Given the description of an element on the screen output the (x, y) to click on. 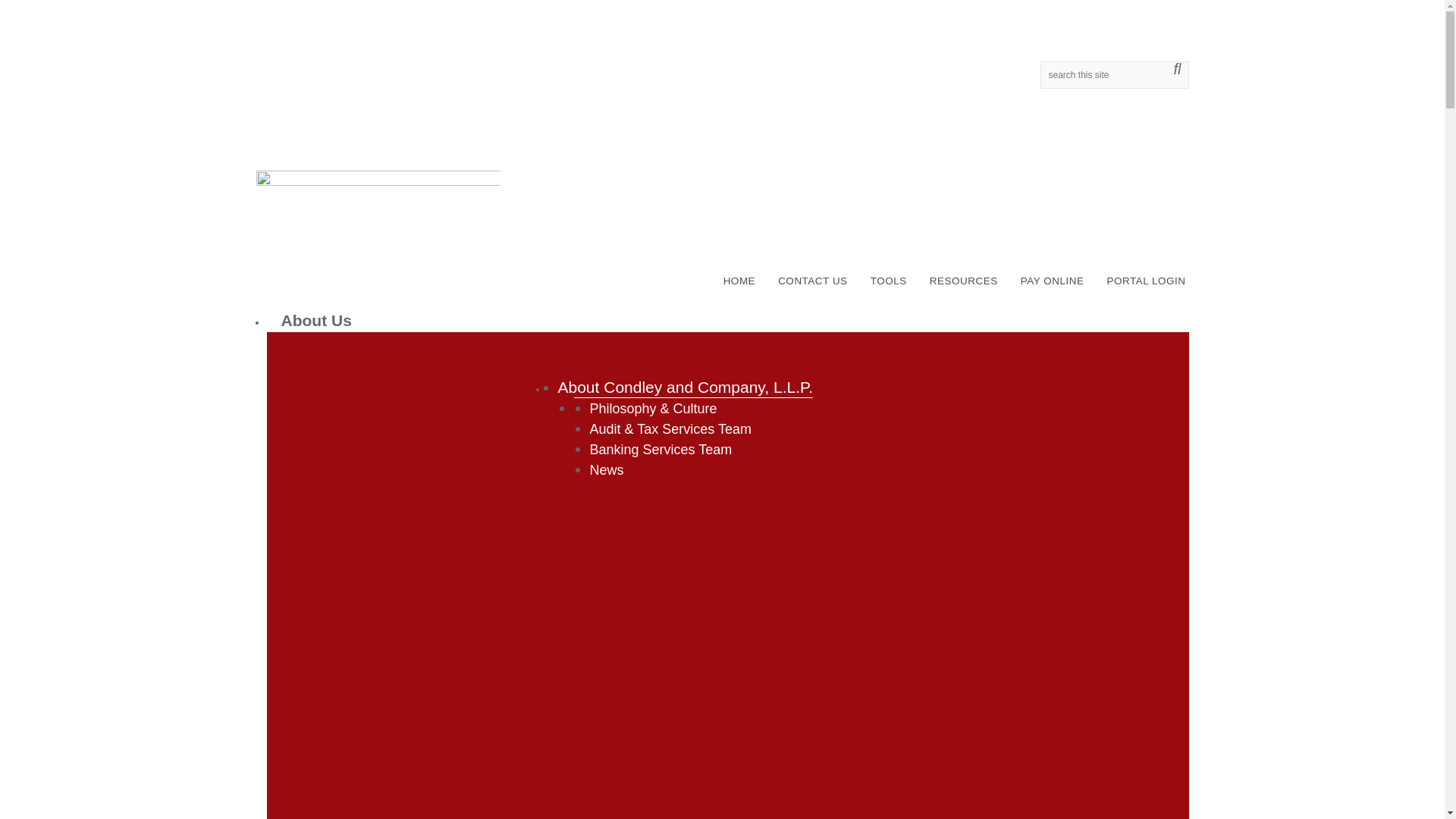
HOME (739, 281)
News (606, 469)
About Condley and Company, L.L.P. (685, 386)
PAY ONLINE (1052, 281)
Banking Services Team (660, 449)
About Us (313, 319)
CONTACT US (813, 281)
TOOLS (888, 281)
PORTAL LOGIN (1145, 281)
RESOURCES (963, 281)
